Given the description of an element on the screen output the (x, y) to click on. 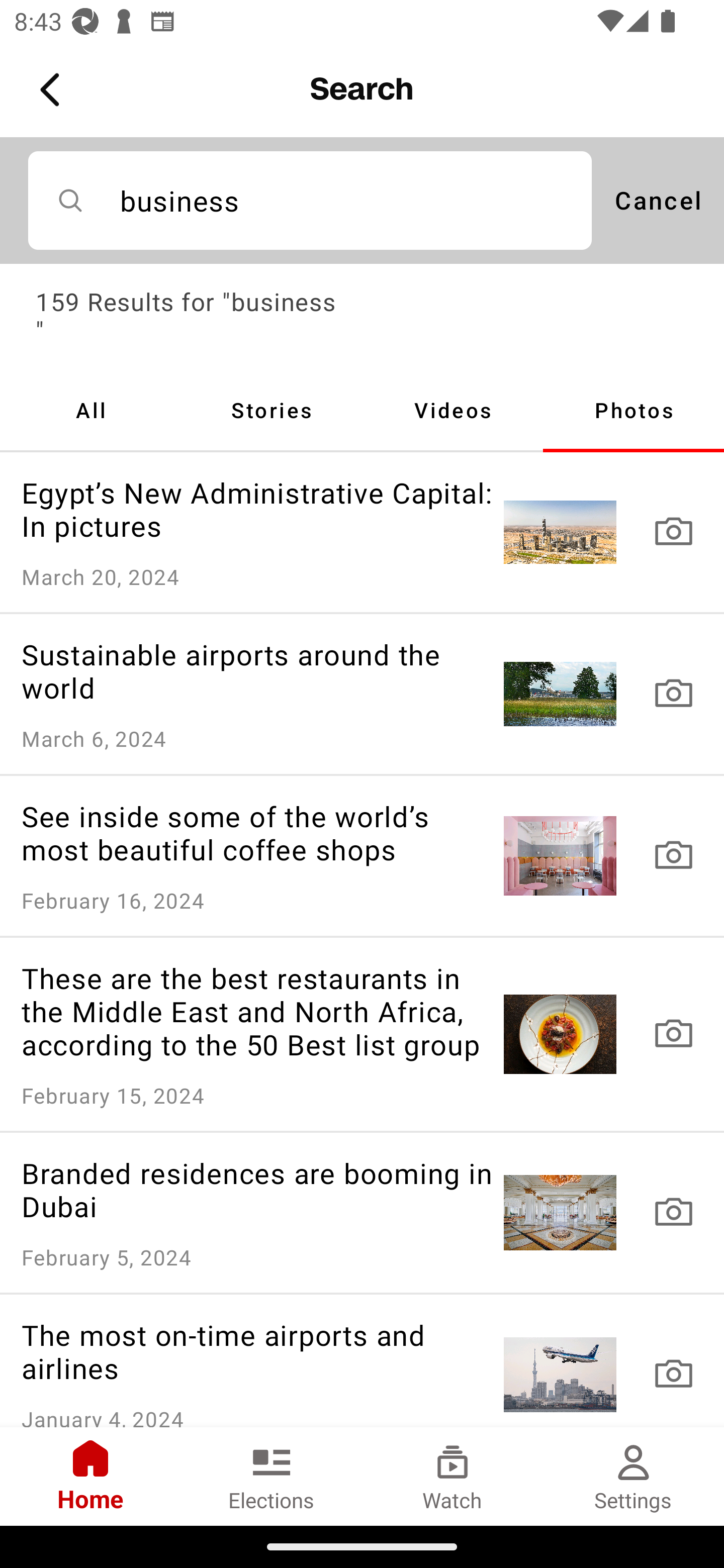
Back Button (52, 89)
Cancel (657, 199)
business
 (309, 199)
All (90, 409)
Stories (271, 409)
Videos (452, 409)
Elections (271, 1475)
Watch (452, 1475)
Settings (633, 1475)
